Given the description of an element on the screen output the (x, y) to click on. 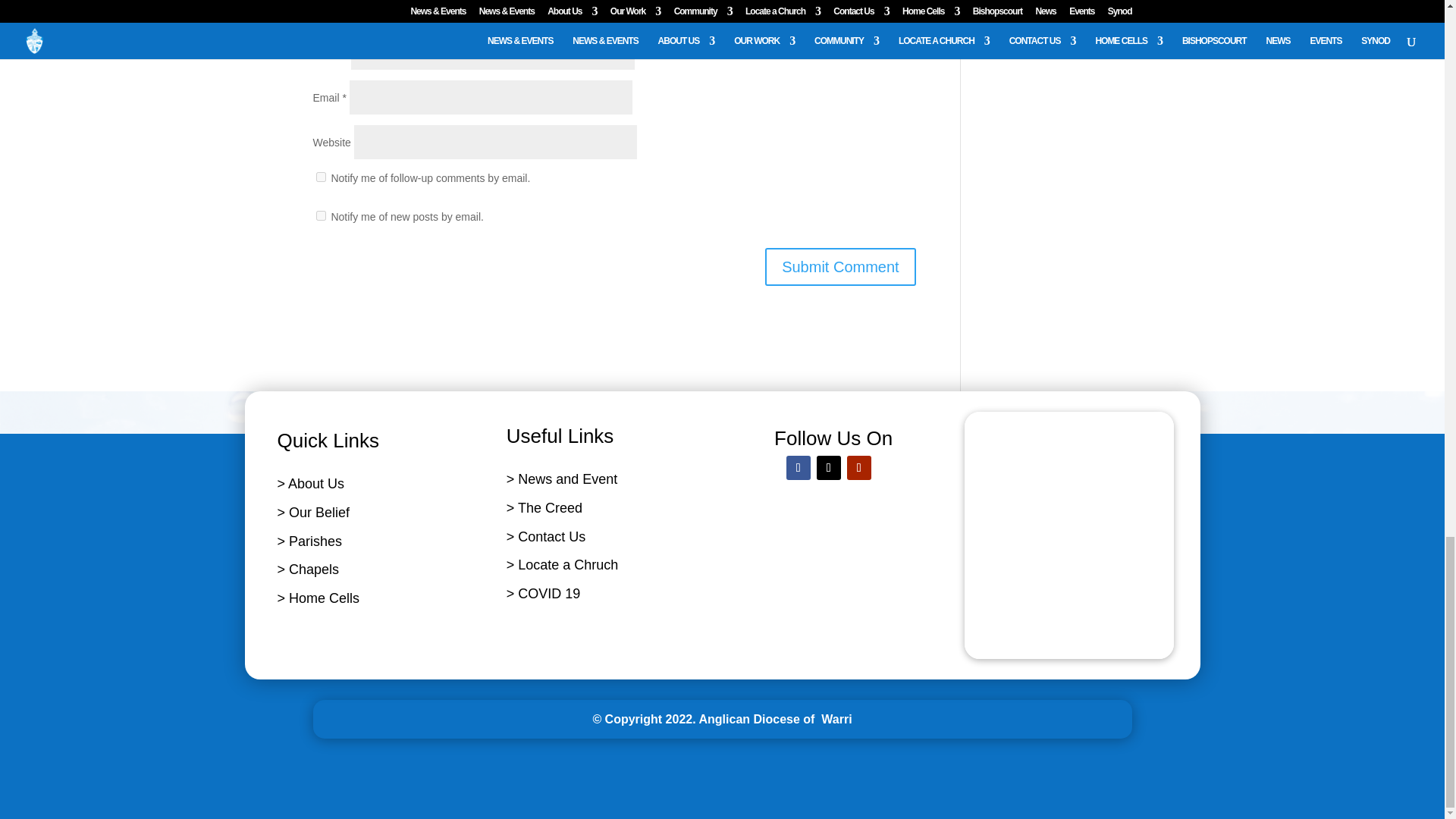
Submit Comment (840, 266)
Follow on Facebook (798, 467)
subscribe (319, 215)
Follow on X (828, 467)
subscribe (319, 176)
